Given the description of an element on the screen output the (x, y) to click on. 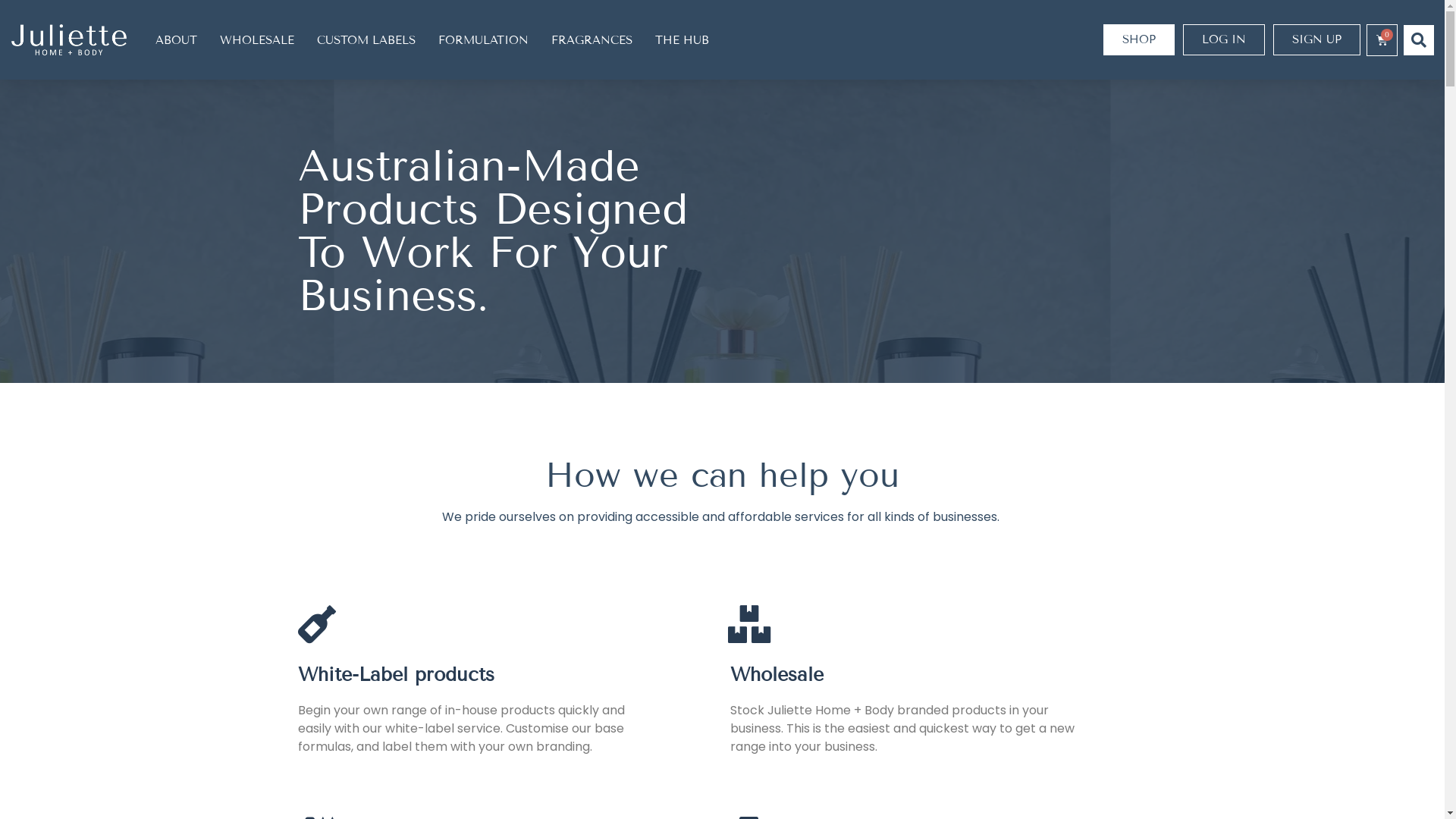
WHOLESALE Element type: text (256, 39)
Wholesale Element type: text (775, 674)
THE HUB Element type: text (682, 39)
White-Label products Element type: text (395, 674)
CUSTOM LABELS Element type: text (365, 39)
FRAGRANCES Element type: text (591, 39)
SIGN UP Element type: text (1316, 39)
SHOP Element type: text (1138, 39)
LOG IN Element type: text (1223, 39)
0 Element type: text (1381, 40)
ABOUT Element type: text (176, 39)
FORMULATION Element type: text (483, 39)
